Given the description of an element on the screen output the (x, y) to click on. 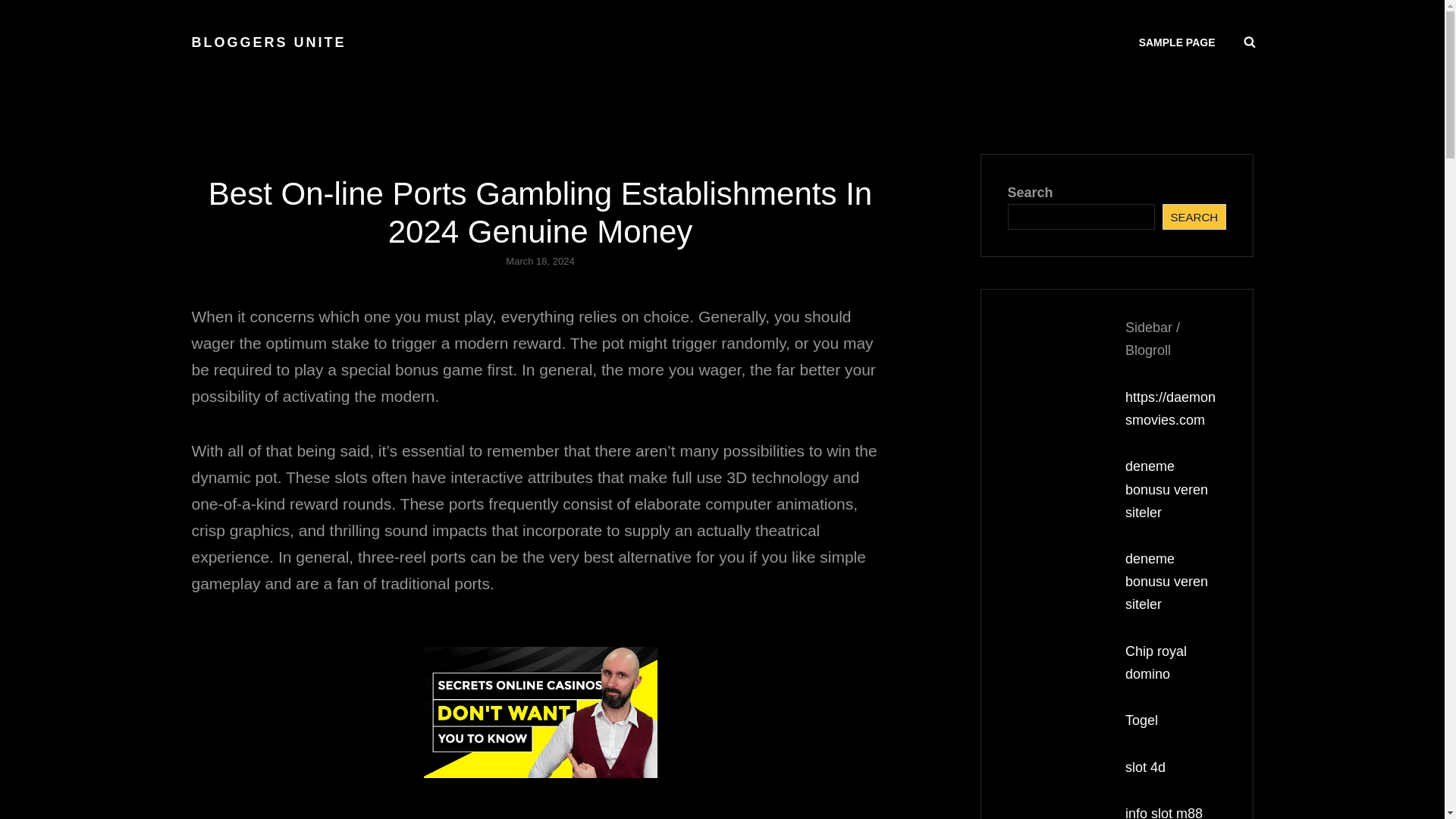
SEARCH (1193, 216)
Togel (1141, 720)
Chip royal domino (1155, 662)
slot 4d (1145, 767)
deneme bonusu veren siteler (1166, 488)
SEARCH (1249, 42)
March 18, 2024 (539, 260)
BLOGGERS UNITE (268, 42)
info slot m88 (1163, 812)
SAMPLE PAGE (1177, 42)
